Given the description of an element on the screen output the (x, y) to click on. 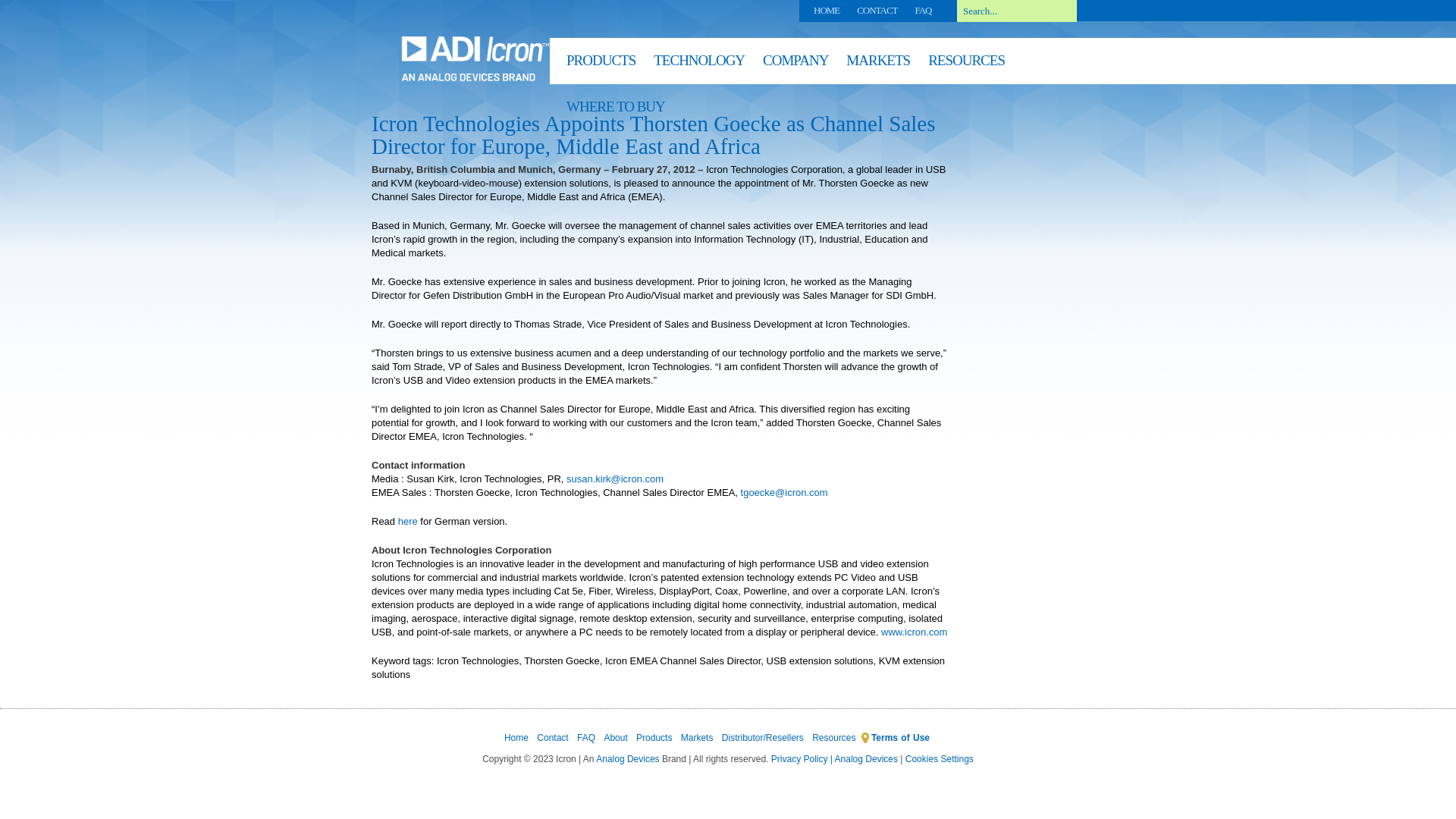
WHERE TO BUY (615, 108)
Search... (1016, 11)
HOME (826, 9)
TECHNOLOGY (699, 62)
CONTACT (876, 9)
COMPANY (795, 62)
RESOURCES (965, 62)
FAQ (922, 9)
PRODUCTS (601, 62)
MARKETS (877, 62)
